Given the description of an element on the screen output the (x, y) to click on. 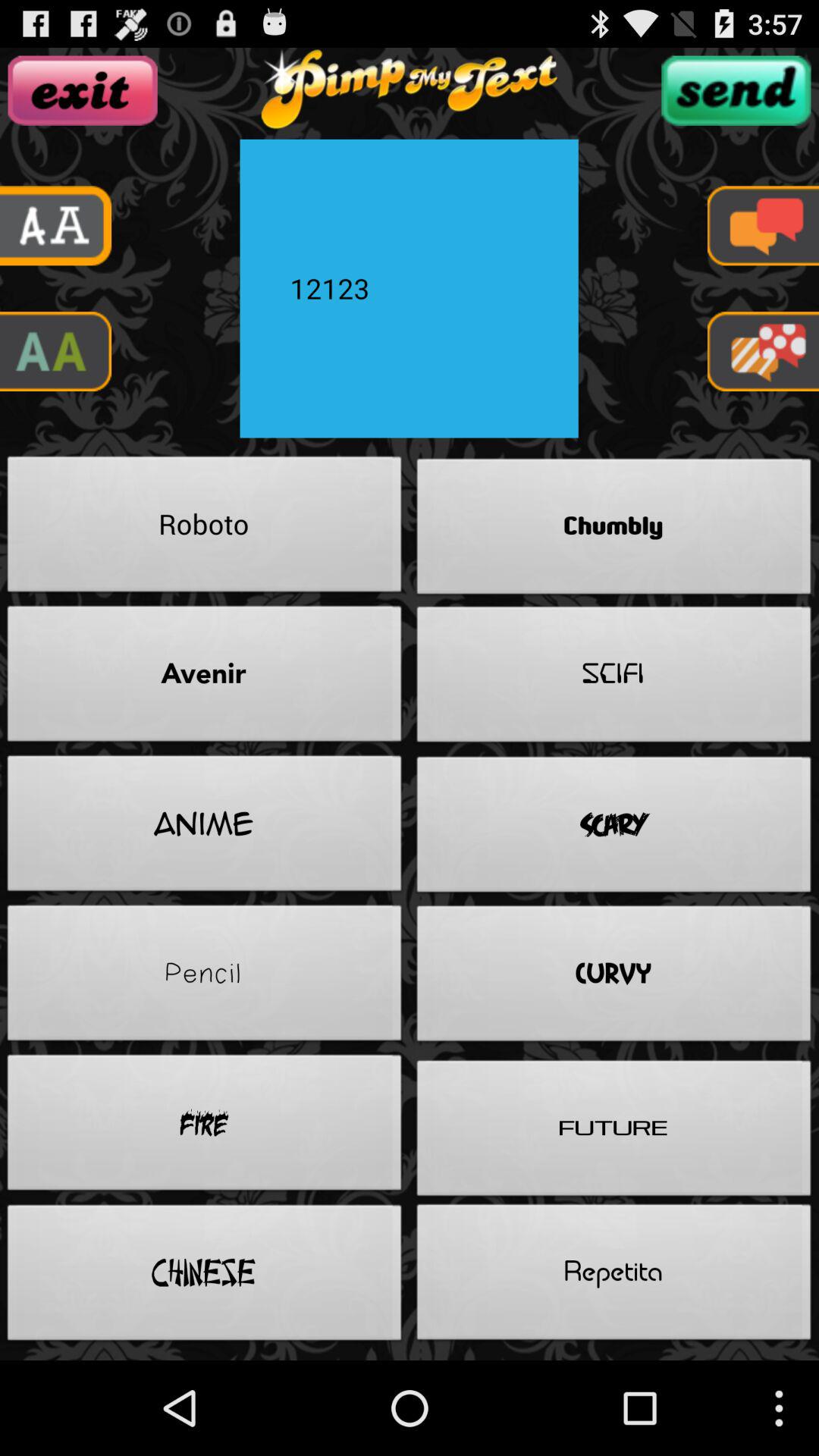
message option (763, 351)
